Given the description of an element on the screen output the (x, y) to click on. 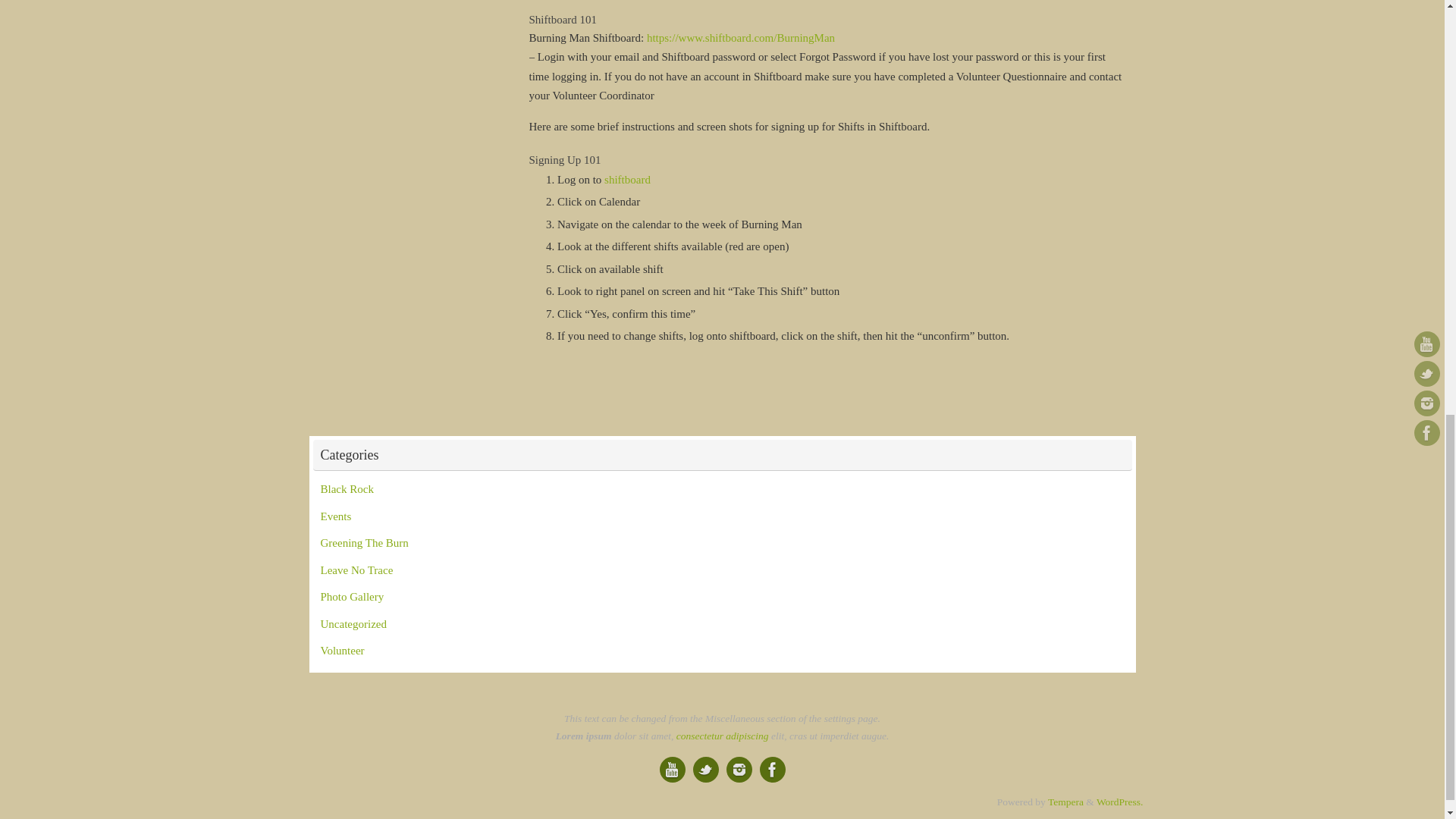
Tempera Theme by Cryout Creations (1065, 801)
Semantic Personal Publishing Platform (1119, 801)
Twitter: BM Earth Guardians (706, 769)
Facebook BRC Earth Guardians (773, 769)
shiftboard (627, 179)
Instagram: Earth Guardians (739, 769)
Burning Man You Tube (672, 769)
